Given the description of an element on the screen output the (x, y) to click on. 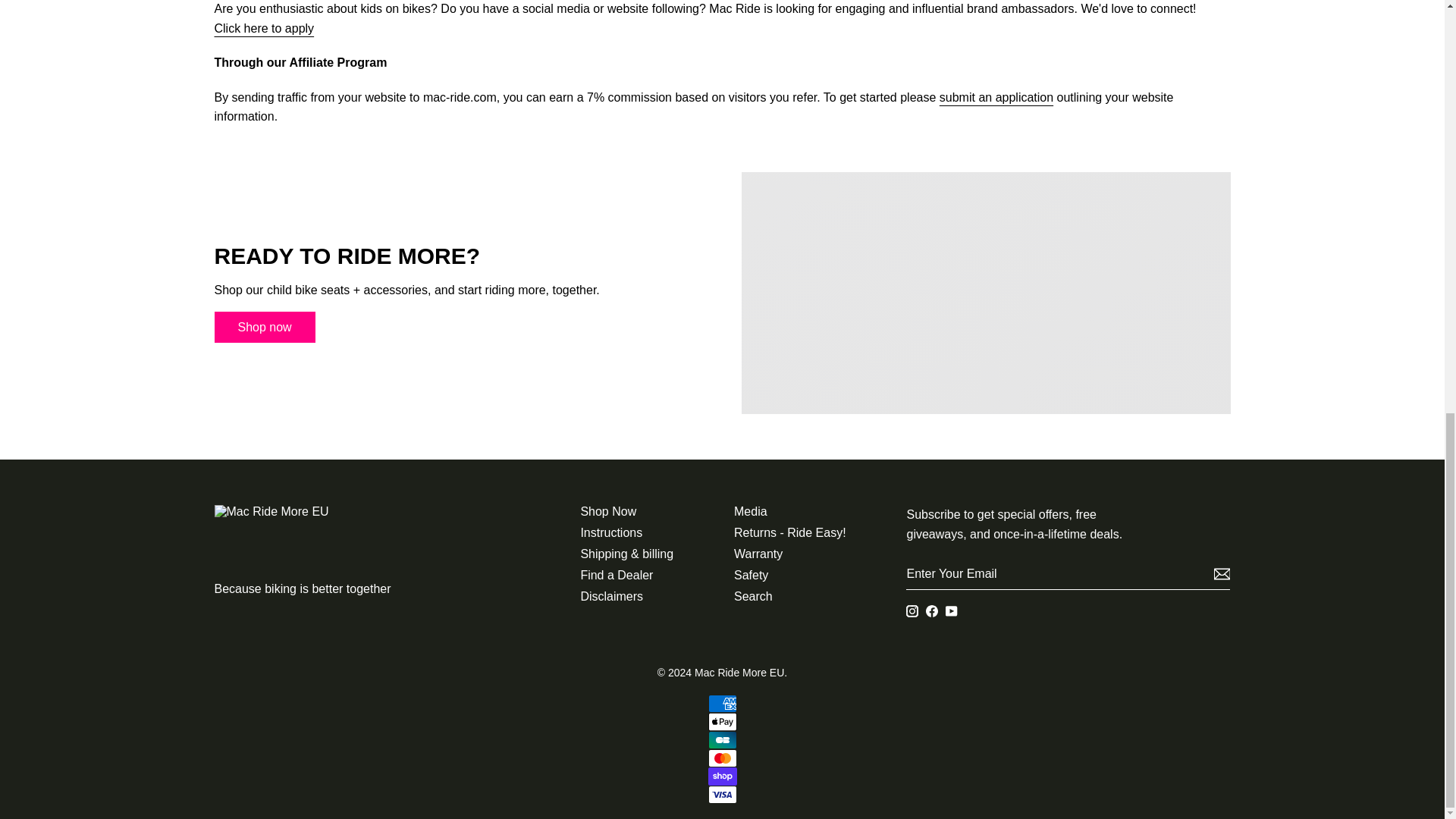
Affiliate Application (995, 97)
Brand Ambassador Application (264, 28)
